Given the description of an element on the screen output the (x, y) to click on. 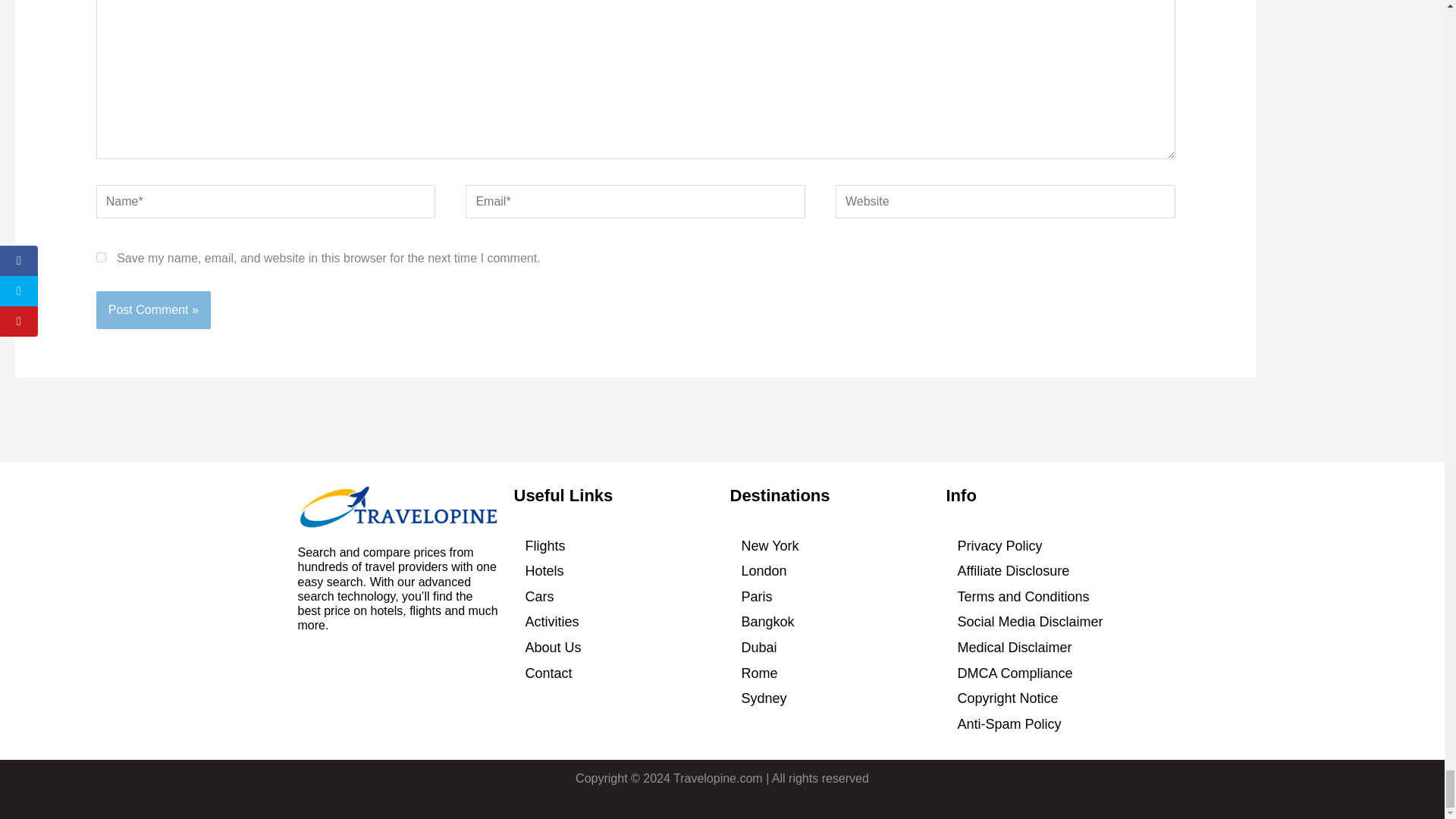
Cars (613, 597)
About Us (613, 647)
Flights (613, 546)
Hotels (613, 571)
Contact (613, 673)
yes (101, 257)
New York (829, 546)
Activities (613, 622)
